Given the description of an element on the screen output the (x, y) to click on. 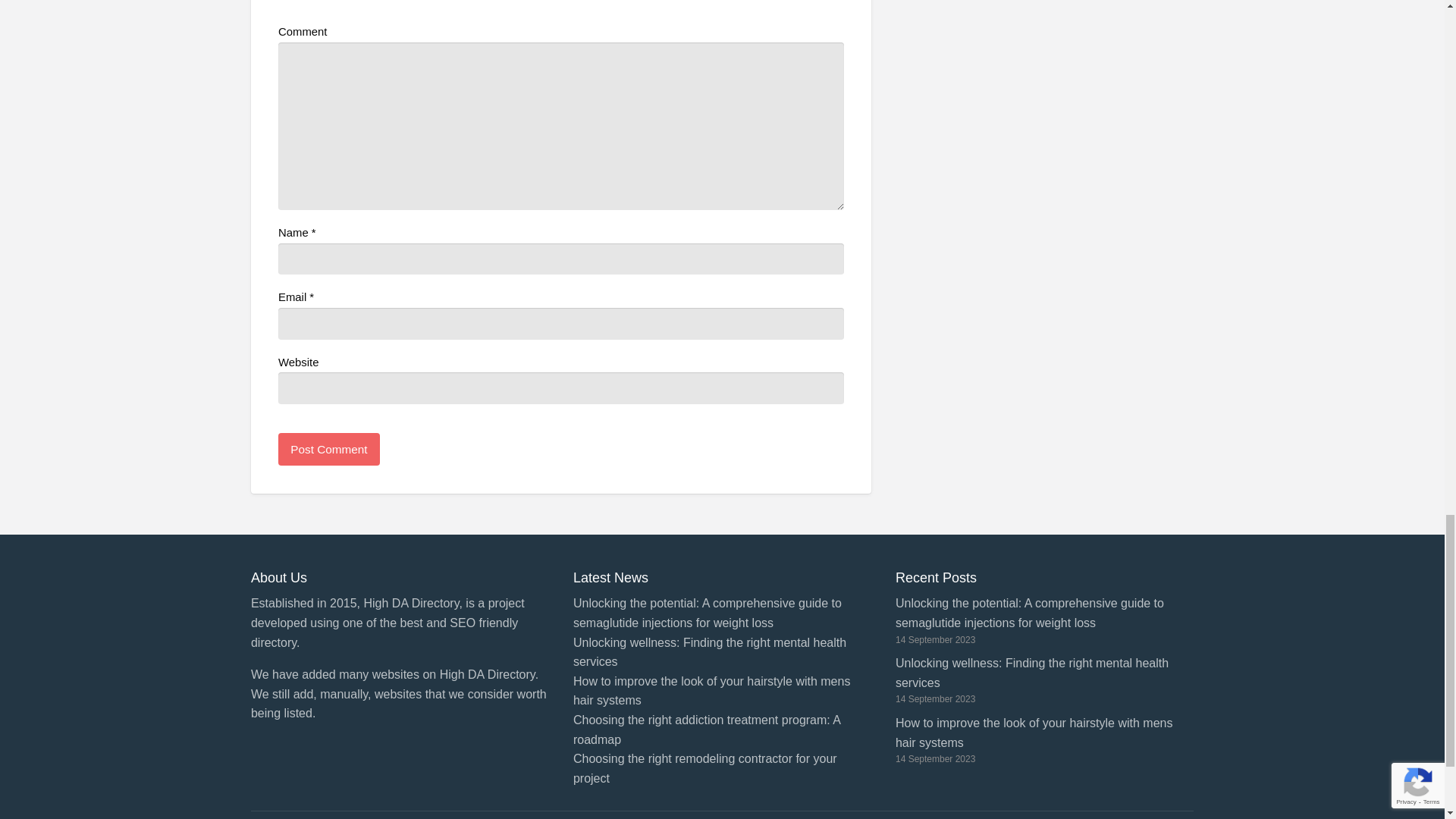
Post Comment (329, 449)
